Given the description of an element on the screen output the (x, y) to click on. 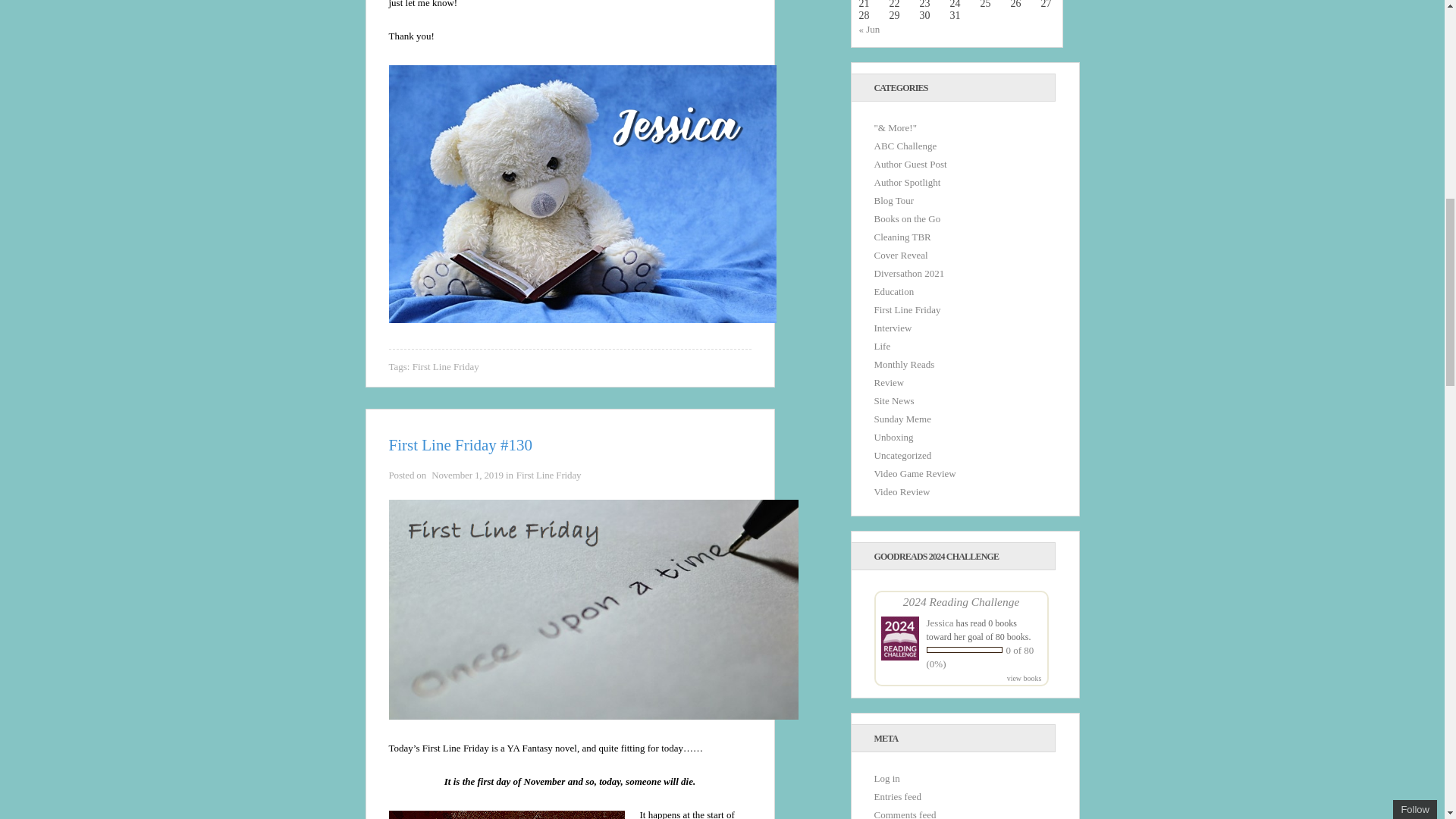
First Line Friday (548, 474)
November 1, 2019 (466, 474)
First Line Friday (445, 366)
Sign up! (1361, 105)
